Given the description of an element on the screen output the (x, y) to click on. 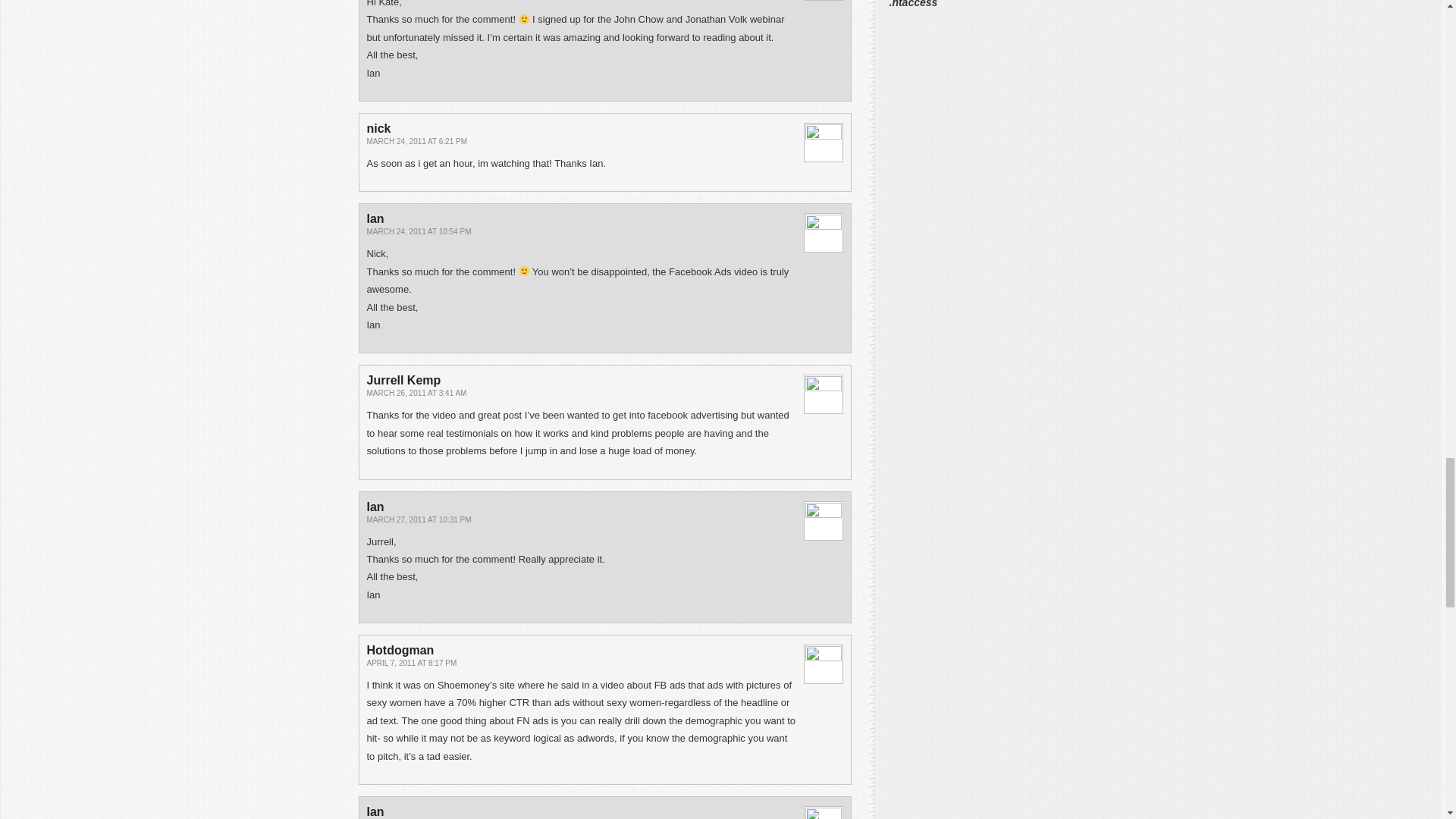
Jurrell Kemp (403, 379)
MARCH 26, 2011 AT 3:41 AM (416, 393)
MARCH 24, 2011 AT 10:54 PM (418, 231)
MARCH 24, 2011 AT 6:21 PM (416, 141)
nick (378, 128)
